Given the description of an element on the screen output the (x, y) to click on. 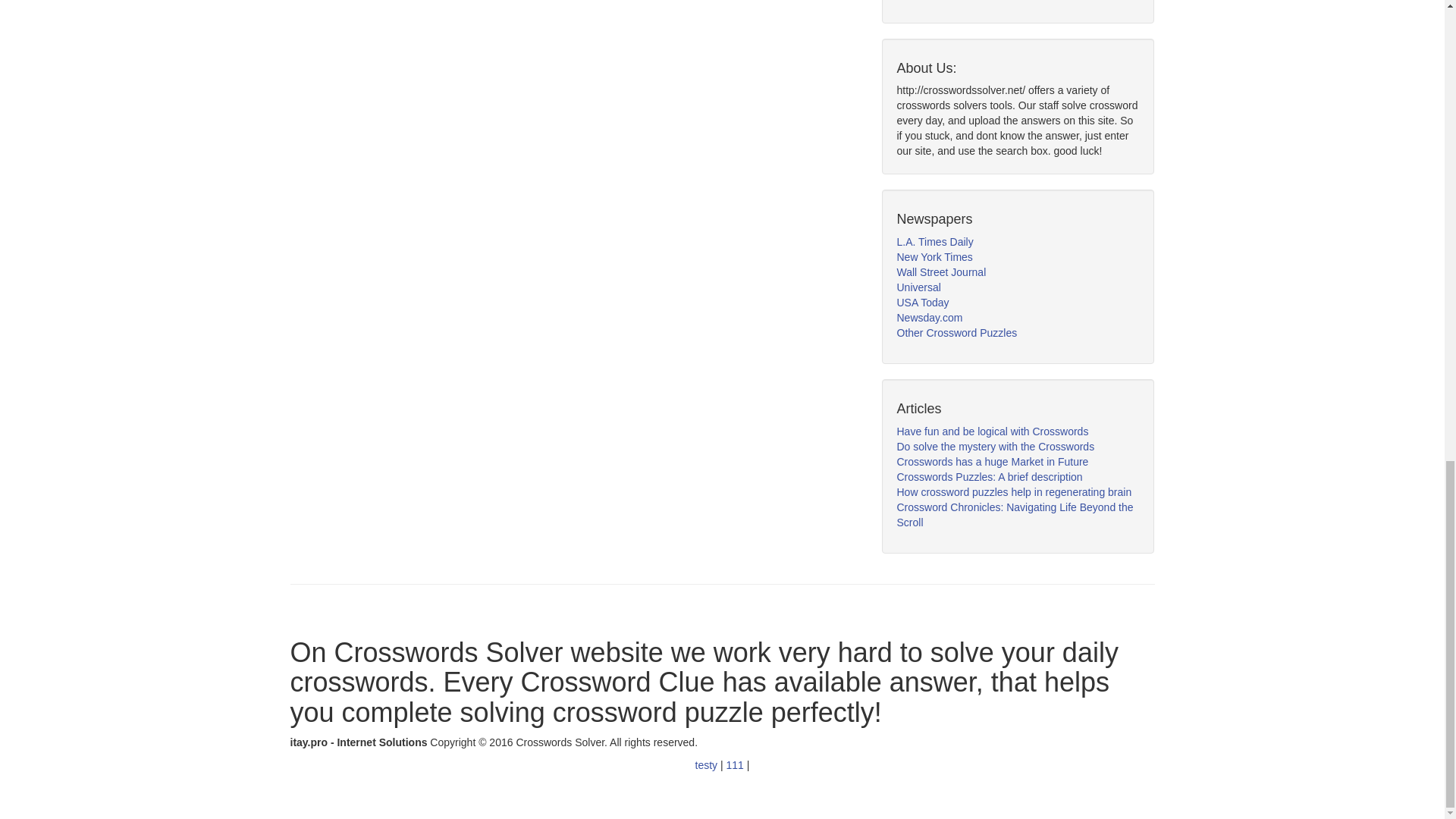
Do solve the mystery with the Crosswords (995, 446)
Newsday.com (929, 317)
Crosswords has a huge Market in Future (991, 461)
Universal (918, 287)
testy (707, 765)
111 (736, 765)
Advertisement (1010, 2)
Wall Street Journal (940, 272)
Have fun and be logical with Crosswords (991, 431)
L.A. Times Daily (934, 241)
Crossword Chronicles: Navigating Life Beyond the Scroll (1014, 514)
Other Crossword Puzzles (956, 332)
New York Times (934, 256)
Crosswords Puzzles: A brief description (988, 476)
How crossword puzzles help in regenerating brain (1013, 491)
